Given the description of an element on the screen output the (x, y) to click on. 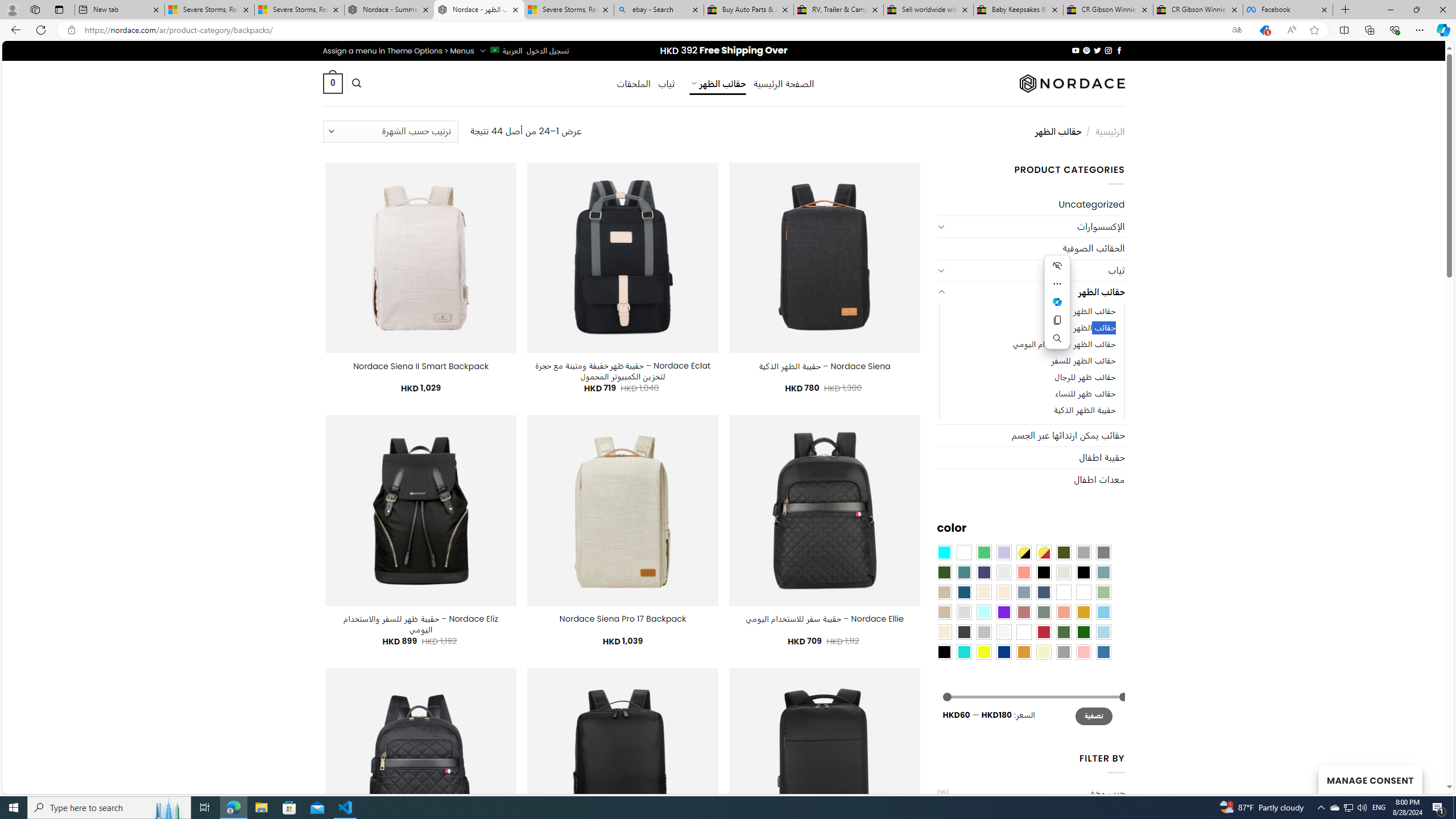
Light Green (1103, 591)
Sage (1043, 611)
Follow on Instagram (1108, 50)
